Given the description of an element on the screen output the (x, y) to click on. 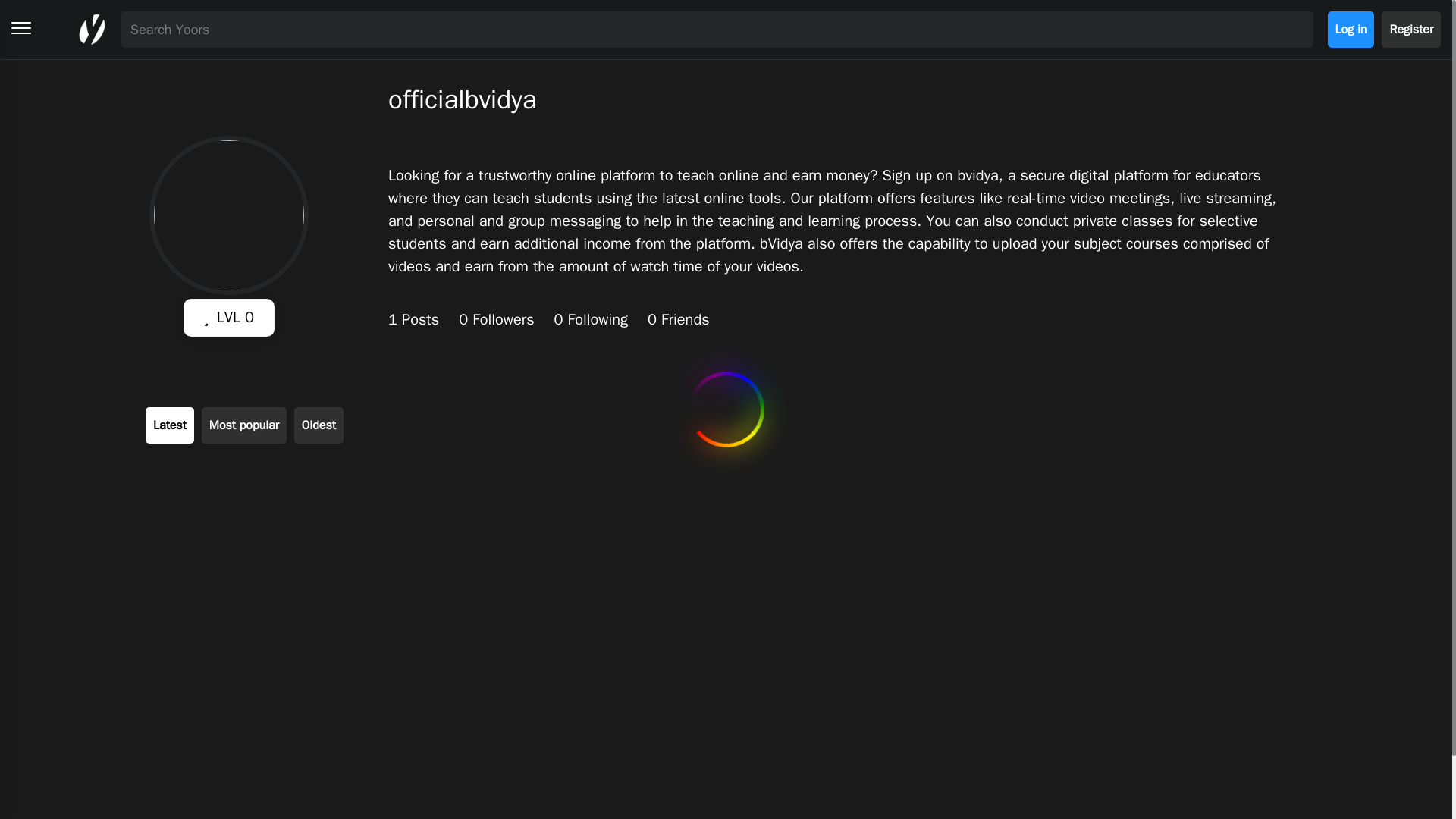
Log in (1350, 29)
Latest (169, 425)
Oldest (318, 425)
0 Following (592, 319)
1 Posts (413, 319)
0 Friends (678, 319)
Register (1411, 29)
Most popular (244, 425)
0 Followers (496, 319)
